Given the description of an element on the screen output the (x, y) to click on. 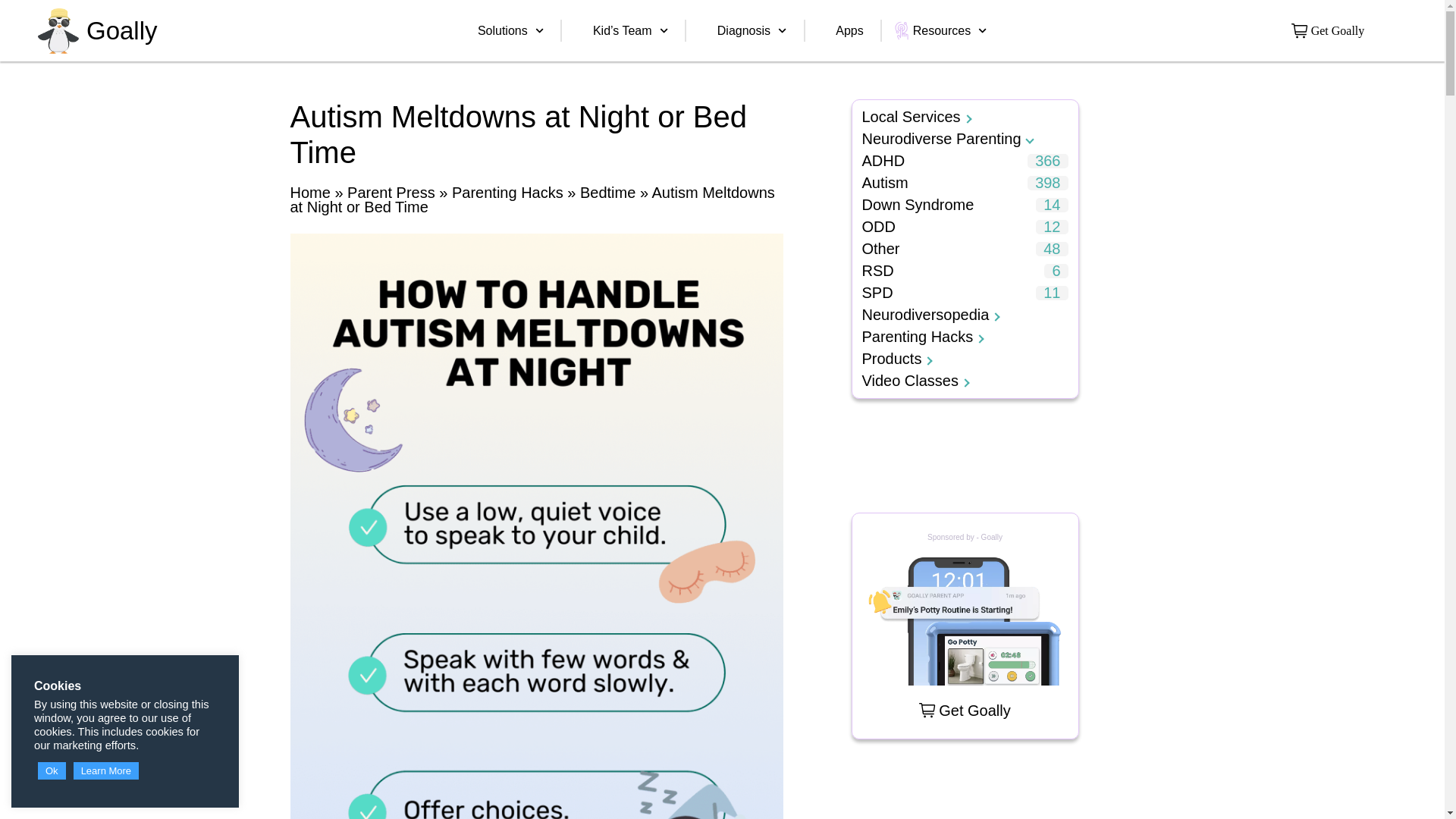
Solutions (511, 30)
Apps (849, 30)
Diagnosis (751, 30)
Help widget launcher (1368, 781)
Goally (121, 30)
Resources (950, 30)
